Given the description of an element on the screen output the (x, y) to click on. 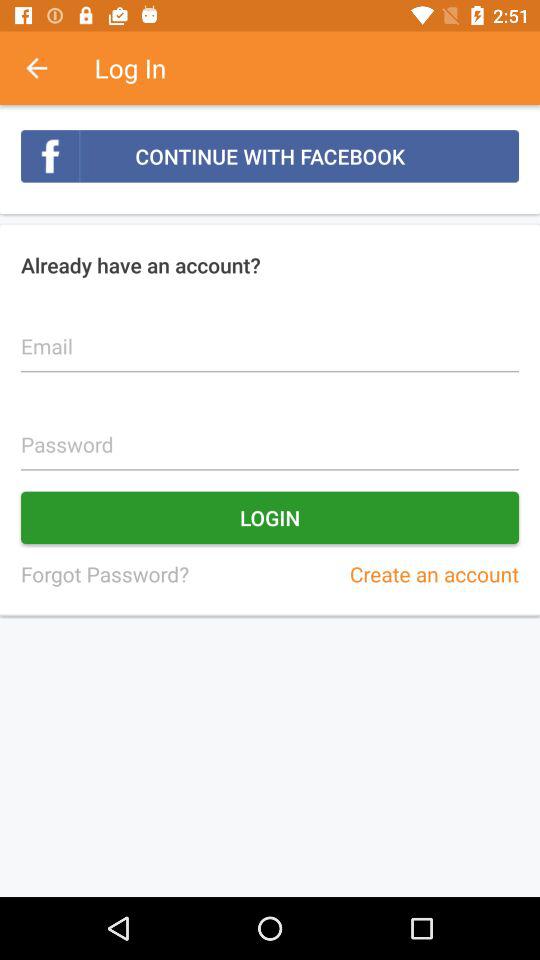
jump until the forgot password? (104, 573)
